Given the description of an element on the screen output the (x, y) to click on. 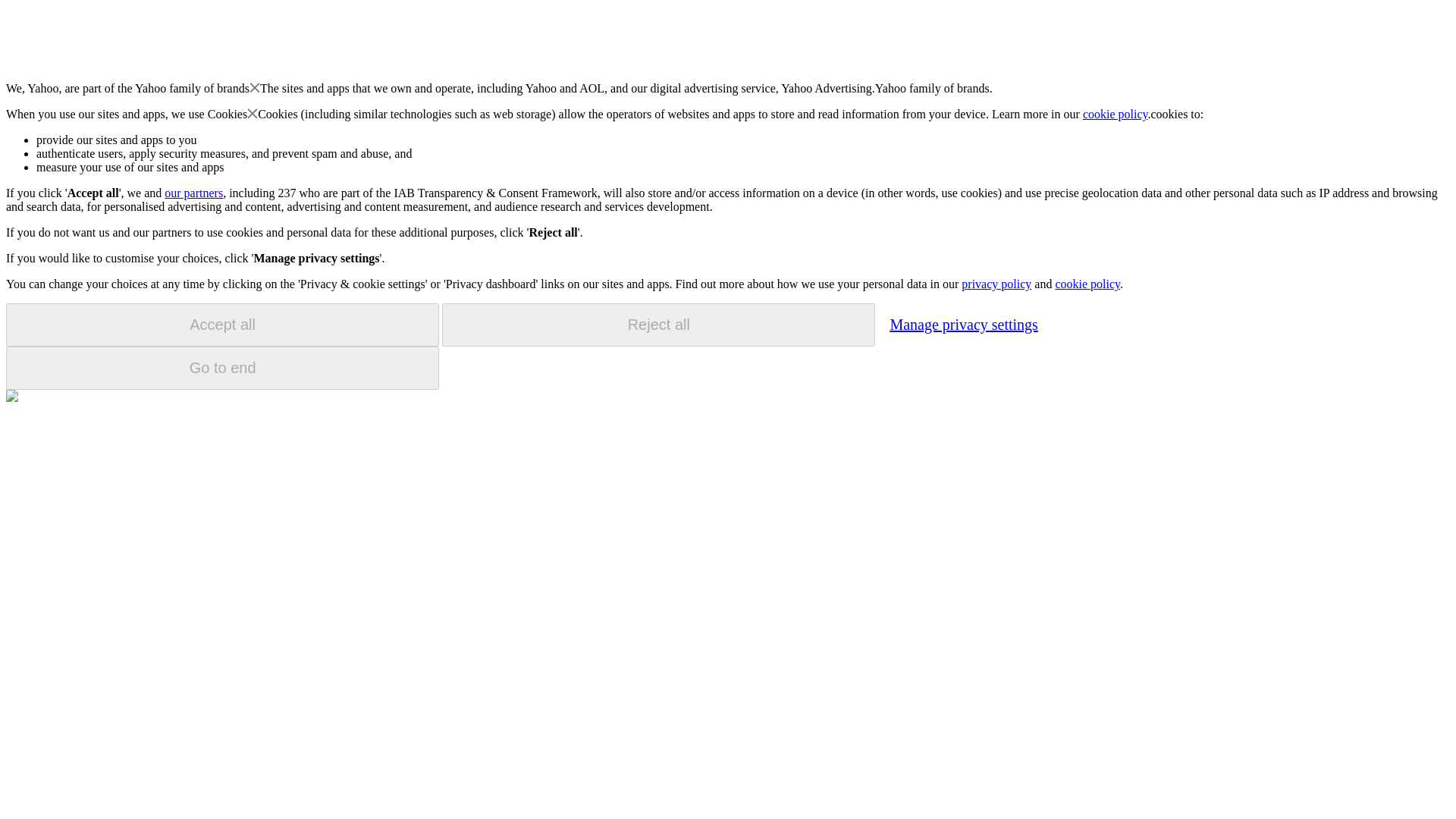
our partners (193, 192)
privacy policy (995, 283)
cookie policy (1115, 113)
cookie policy (1086, 283)
Accept all (222, 324)
Manage privacy settings (963, 323)
Reject all (658, 324)
Go to end (222, 367)
